Given the description of an element on the screen output the (x, y) to click on. 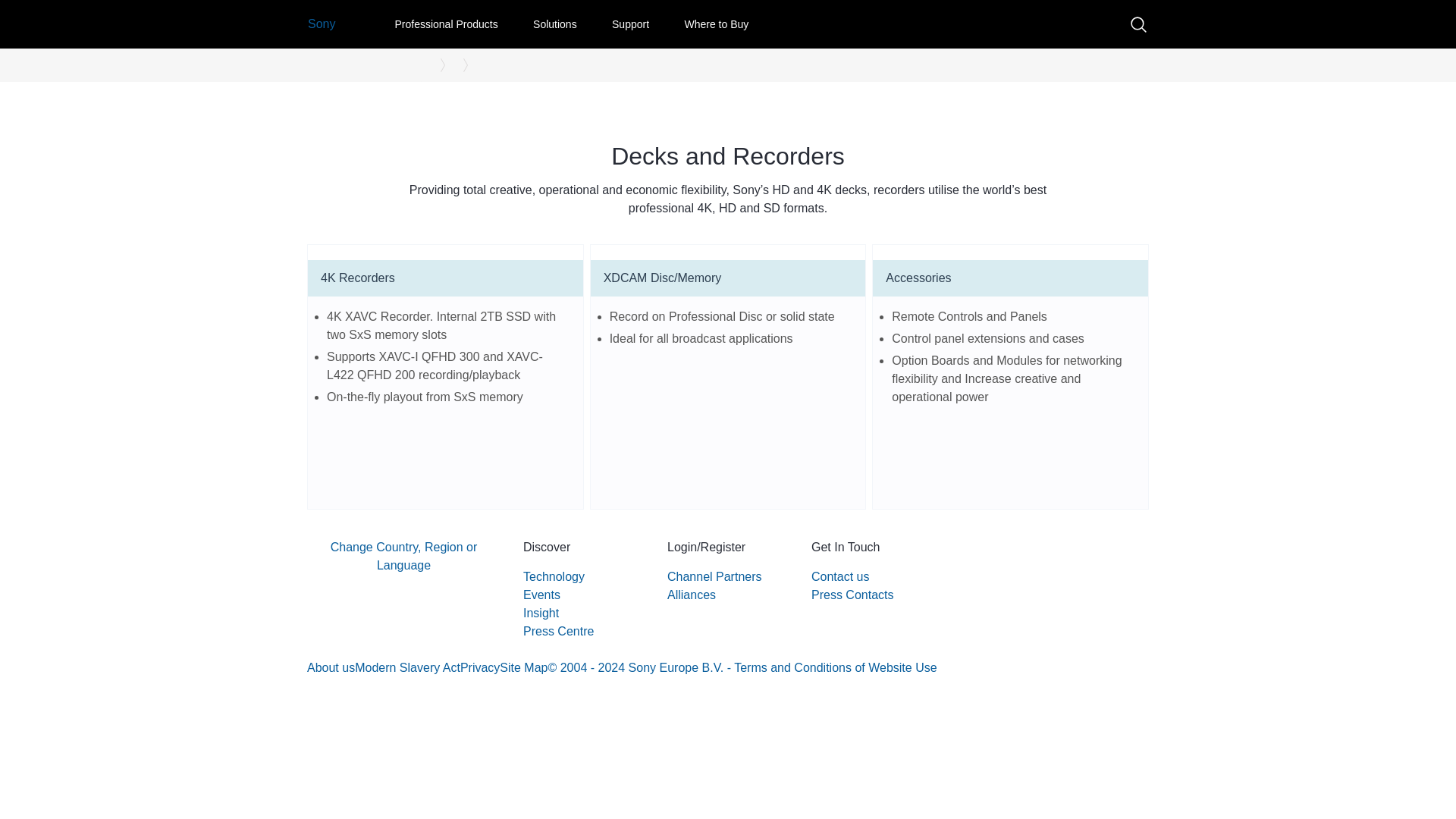
Insight (540, 612)
Change Country, Region or Language (403, 564)
Technology (553, 576)
Privacy (479, 667)
Site Map (523, 667)
Solutions (554, 26)
Press Centre (558, 631)
Change Country, Region or Language (403, 556)
Press Contacts (851, 594)
Channel Partners (713, 576)
Contact us (839, 576)
Alliances (691, 594)
Support (630, 26)
Professional Products (445, 26)
